Given the description of an element on the screen output the (x, y) to click on. 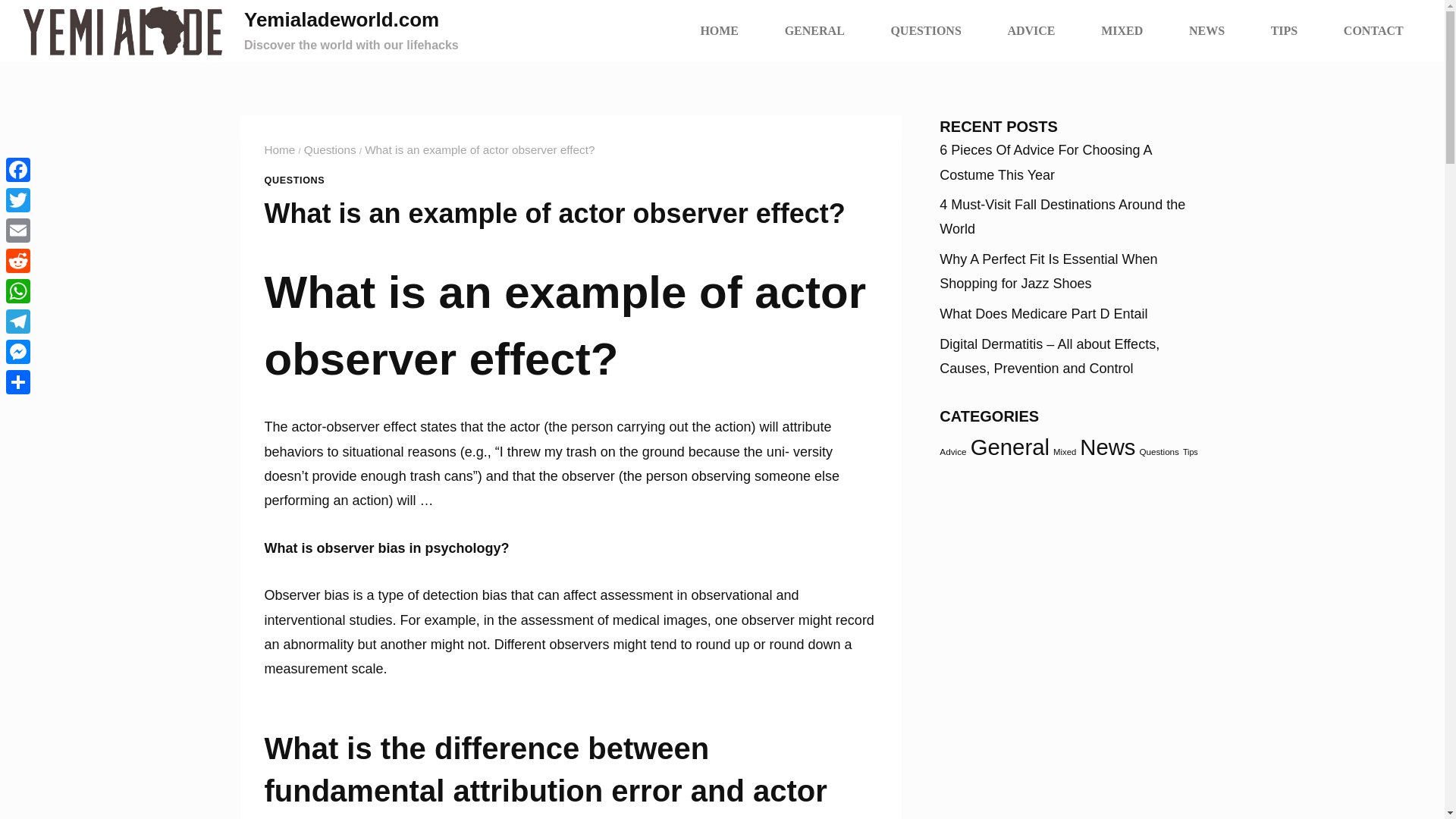
Facebook (17, 169)
MIXED (1122, 30)
Questions (1157, 451)
CONTACT (1373, 30)
Tips (1190, 451)
Advice (237, 31)
Questions (952, 451)
Home (330, 149)
4 Must-Visit Fall Destinations Around the World (279, 149)
